Given the description of an element on the screen output the (x, y) to click on. 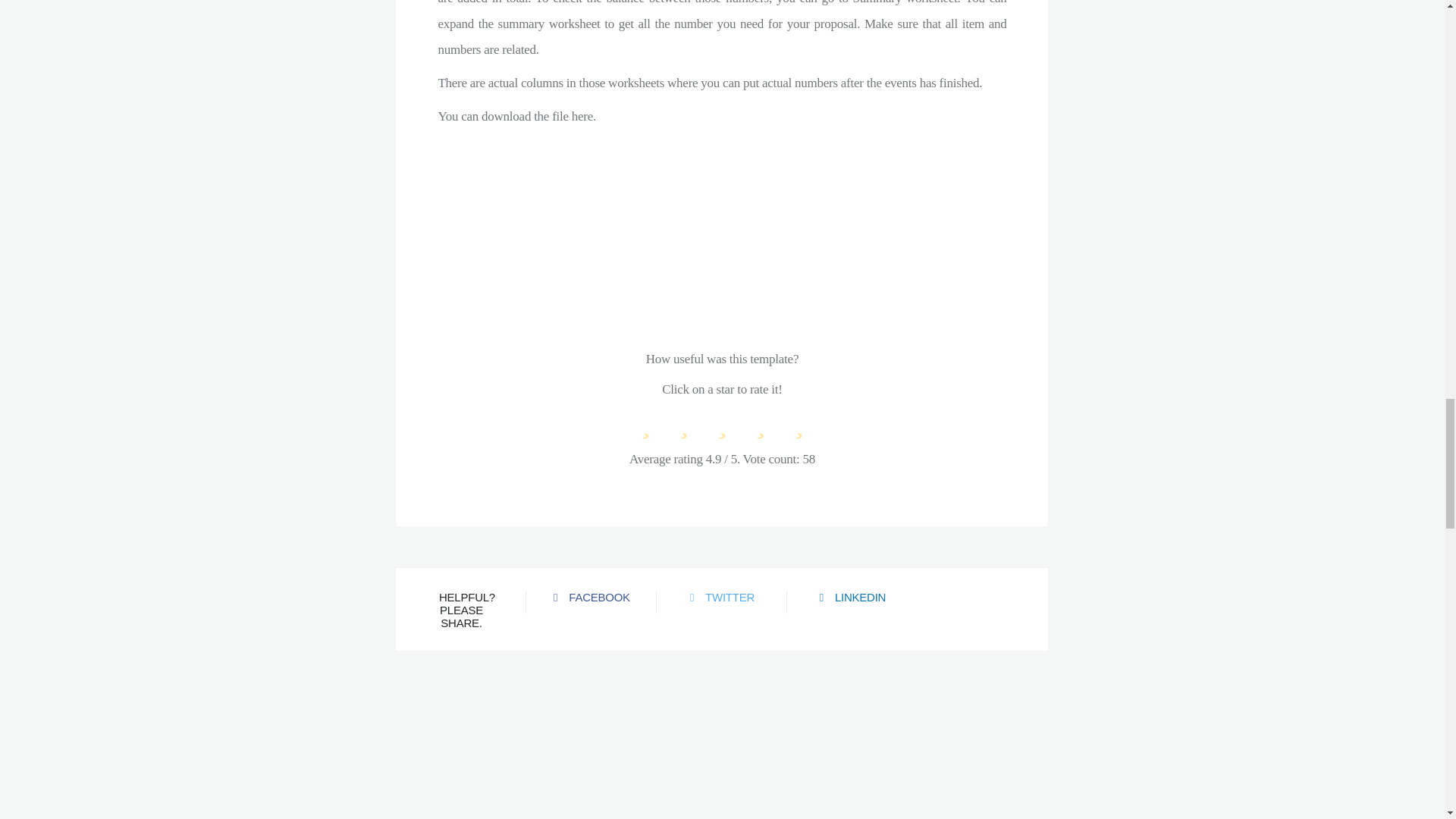
TWITTER (721, 596)
FACEBOOK (590, 596)
LINKEDIN (852, 596)
